Given the description of an element on the screen output the (x, y) to click on. 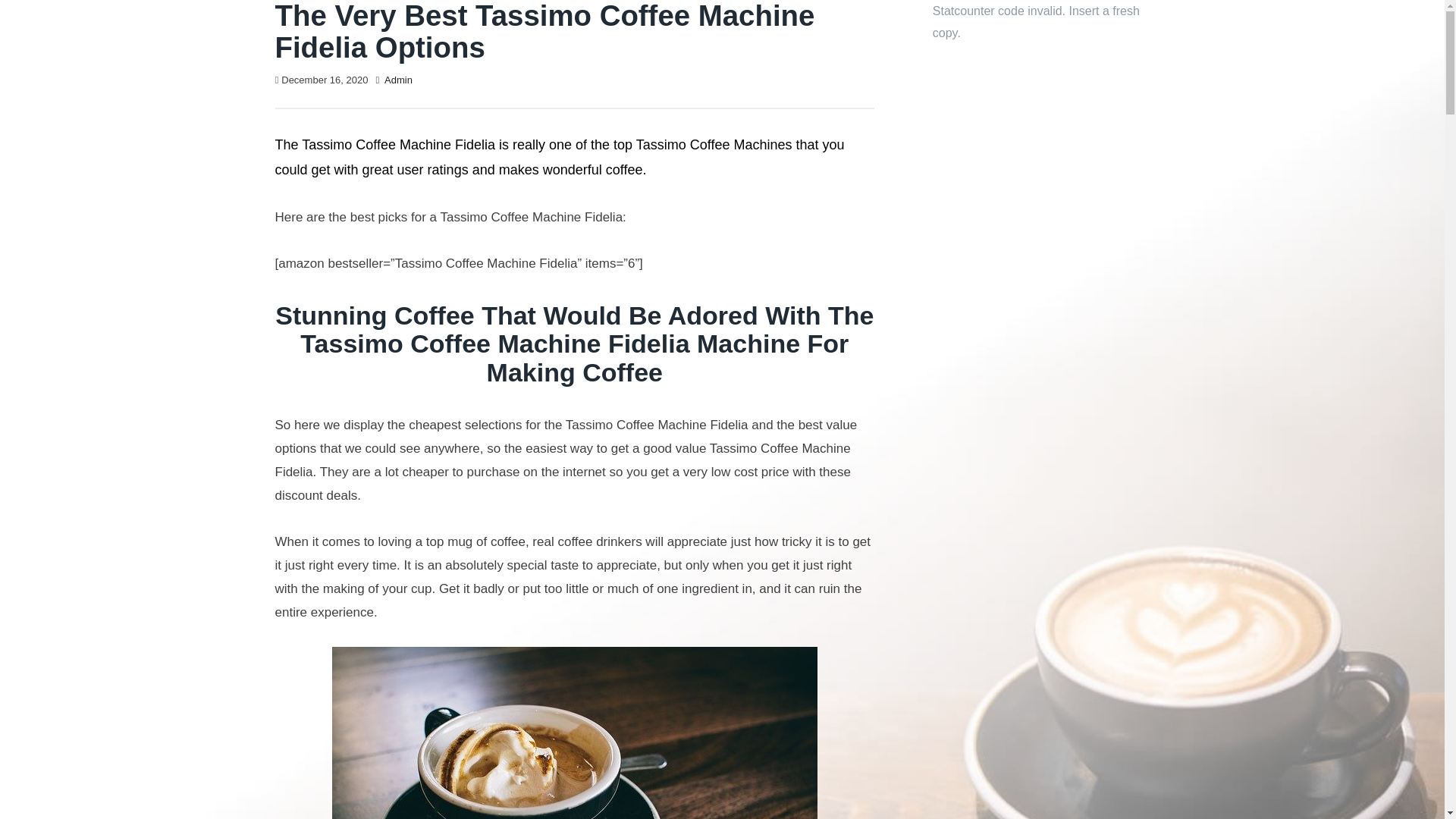
December 16, 2020 (324, 79)
Best Semi Automatic Coffee Machine (573, 733)
Admin (398, 79)
